Given the description of an element on the screen output the (x, y) to click on. 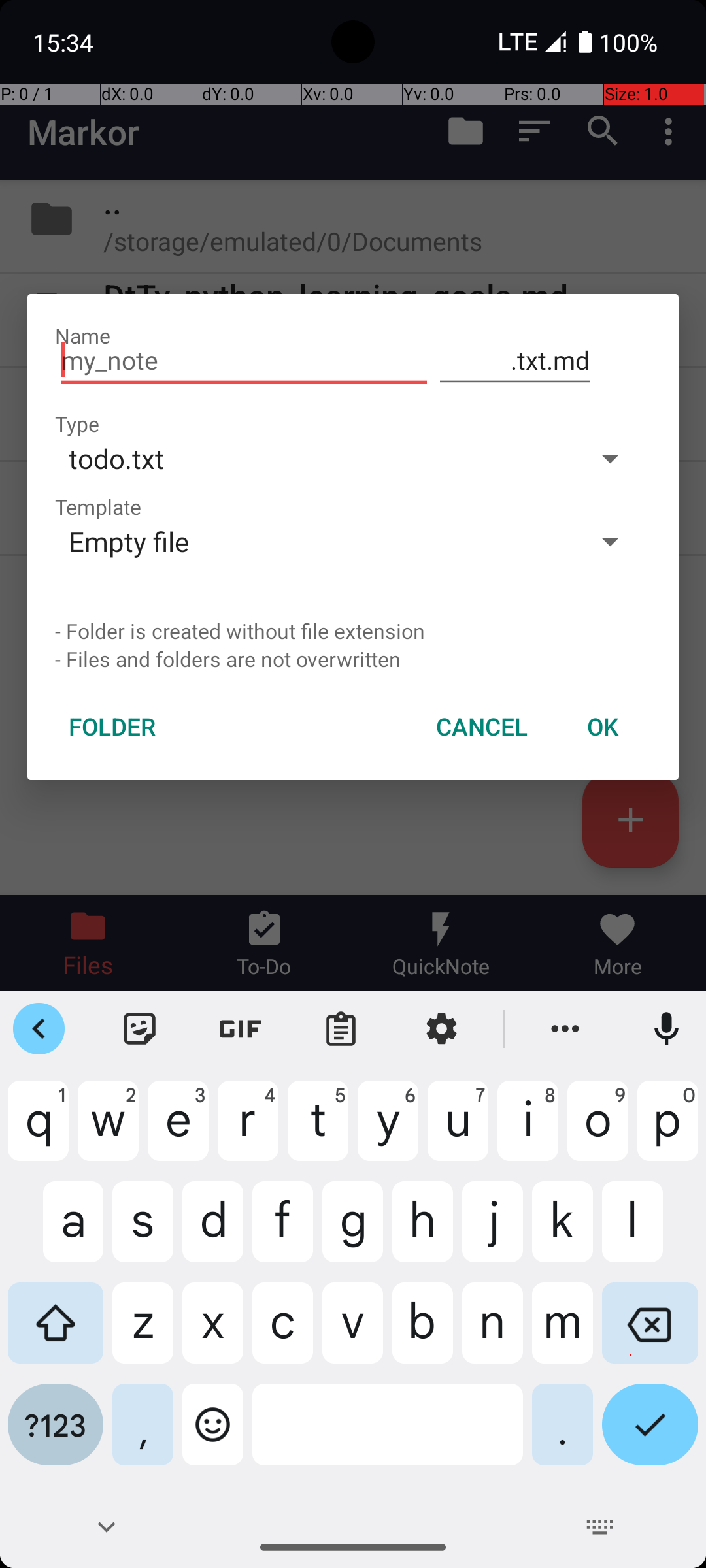
.txt.md Element type: android.widget.EditText (514, 360)
